Given the description of an element on the screen output the (x, y) to click on. 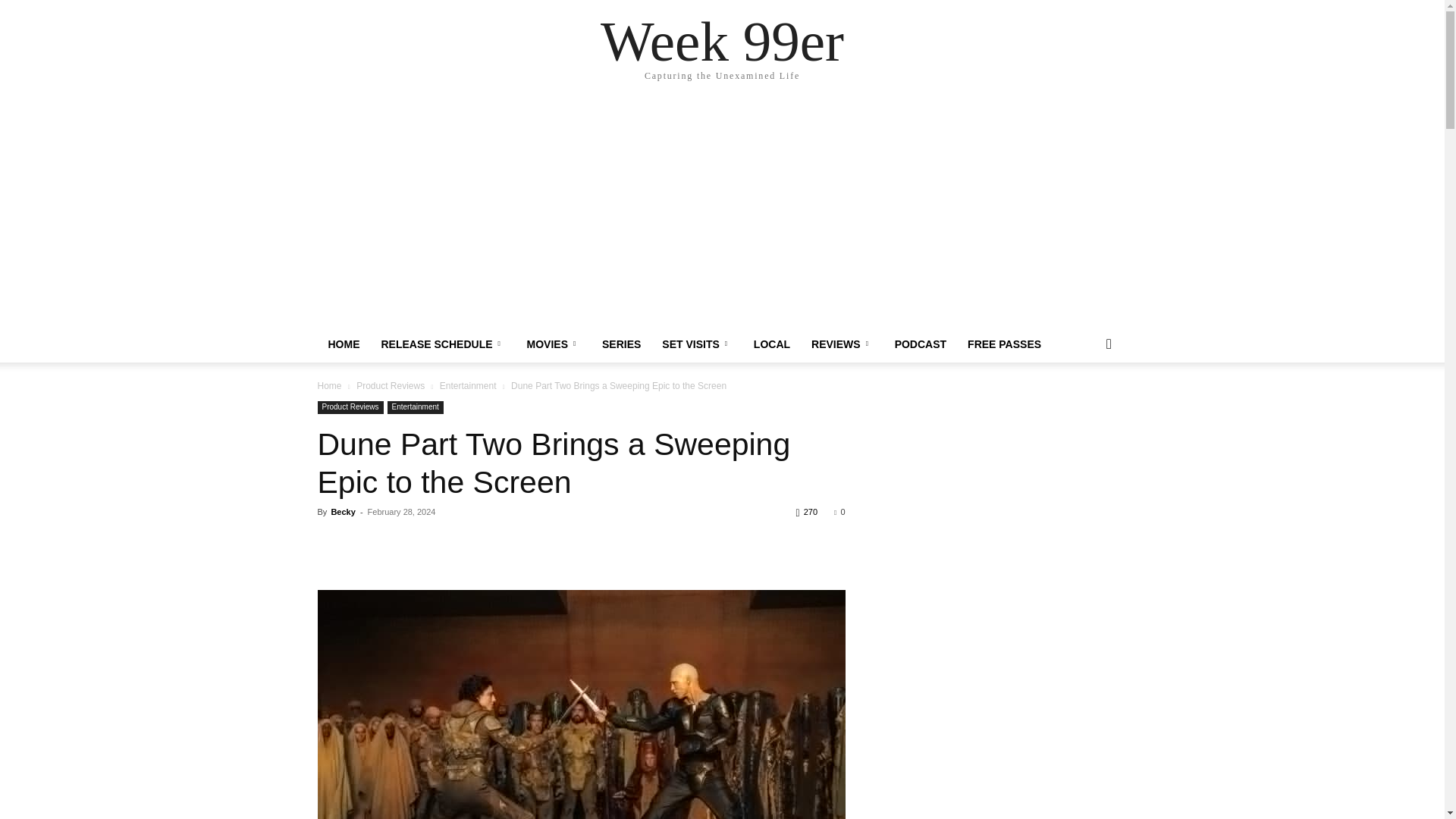
View all posts in Product Reviews (390, 385)
HOME (343, 343)
View all posts in Entertainment (467, 385)
Dune Part Two Review (580, 704)
RELEASE SCHEDULE (442, 343)
Week 99er (721, 41)
